Given the description of an element on the screen output the (x, y) to click on. 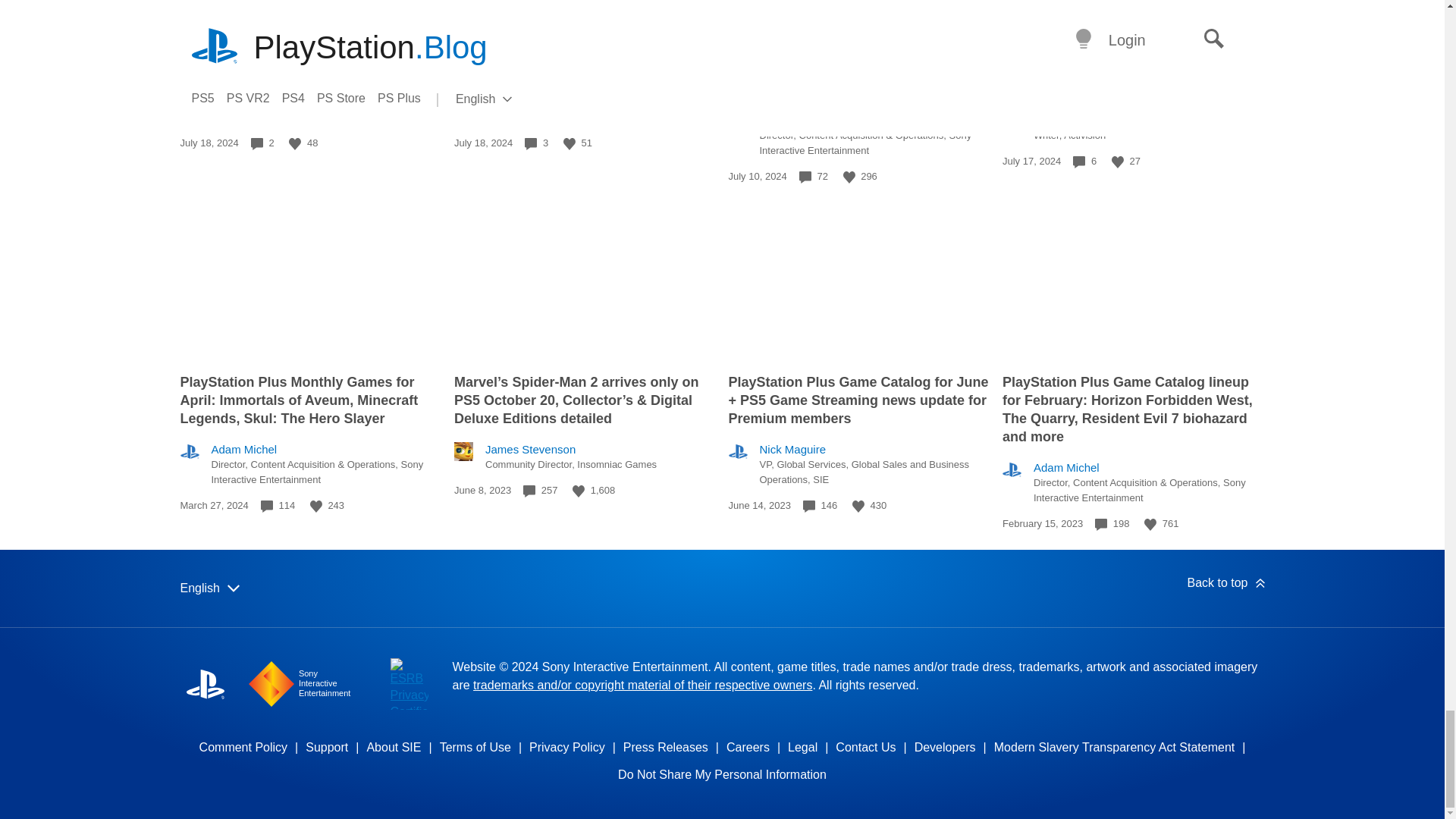
Like this (294, 143)
Like this (1118, 162)
Like this (569, 143)
Like this (849, 177)
